Given the description of an element on the screen output the (x, y) to click on. 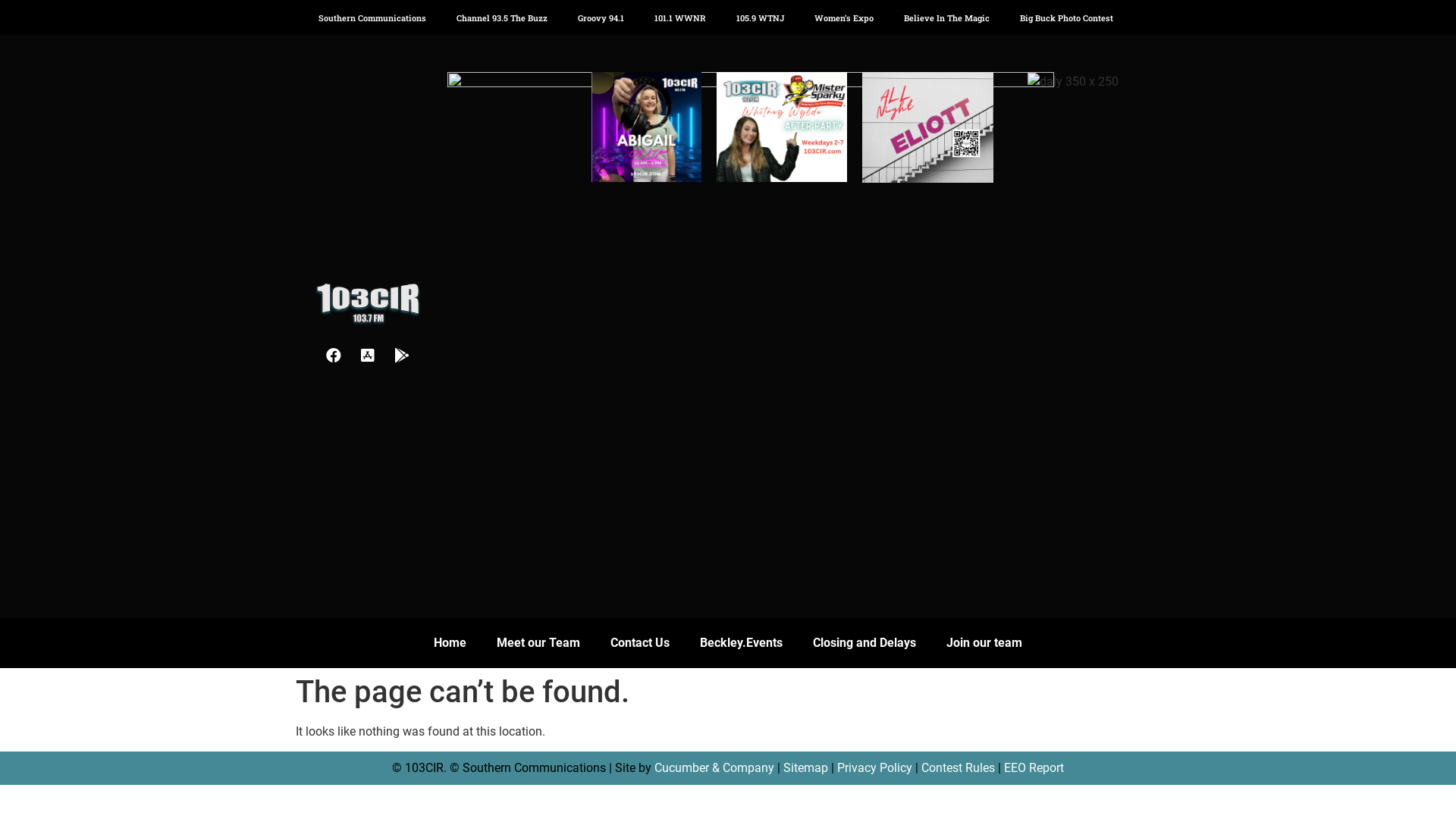
Meet our Team Element type: text (538, 642)
Sitemap Element type: text (805, 767)
Cucumber & Company Element type: text (714, 767)
Believe In The Magic Element type: text (946, 17)
105.9 WTNJ Element type: text (760, 17)
Beckley.Events Element type: text (740, 642)
Closing and Delays Element type: text (864, 642)
Contest Rules Element type: text (957, 767)
Groovy 94.1 Element type: text (600, 17)
Home Element type: text (449, 642)
daly 350 x 250 Element type: hover (1072, 81)
101.1 WWNR Element type: text (680, 17)
Southern Communications Element type: text (372, 17)
Big Buck Photo Contest Element type: text (1066, 17)
EEO Report Element type: text (1033, 767)
Privacy Policy Element type: text (874, 767)
Contact Us Element type: text (639, 642)
Join our team Element type: text (984, 642)
Channel 93.5 The Buzz Element type: text (501, 17)
